Given the description of an element on the screen output the (x, y) to click on. 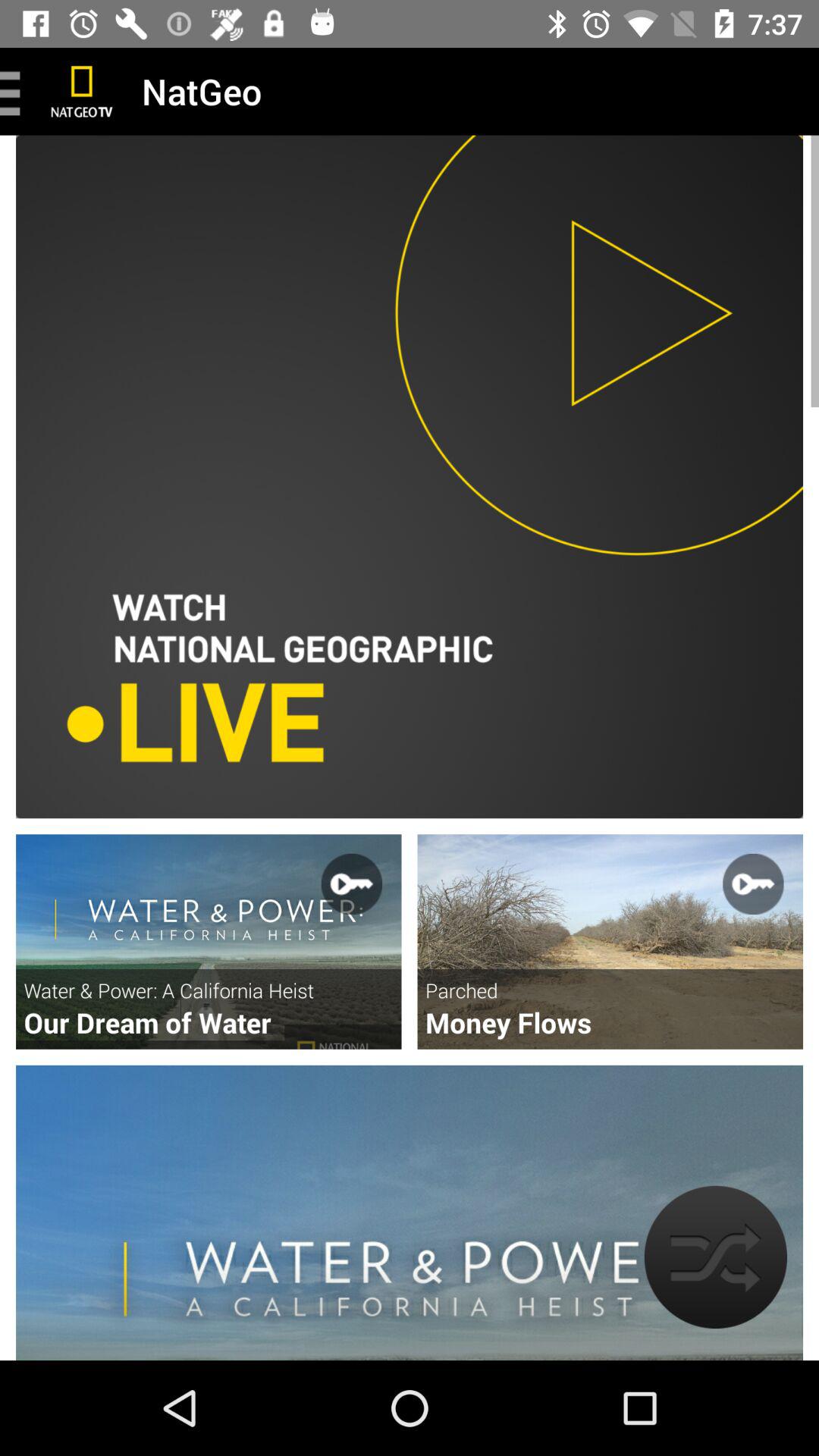
sends to the image article (208, 941)
